Given the description of an element on the screen output the (x, y) to click on. 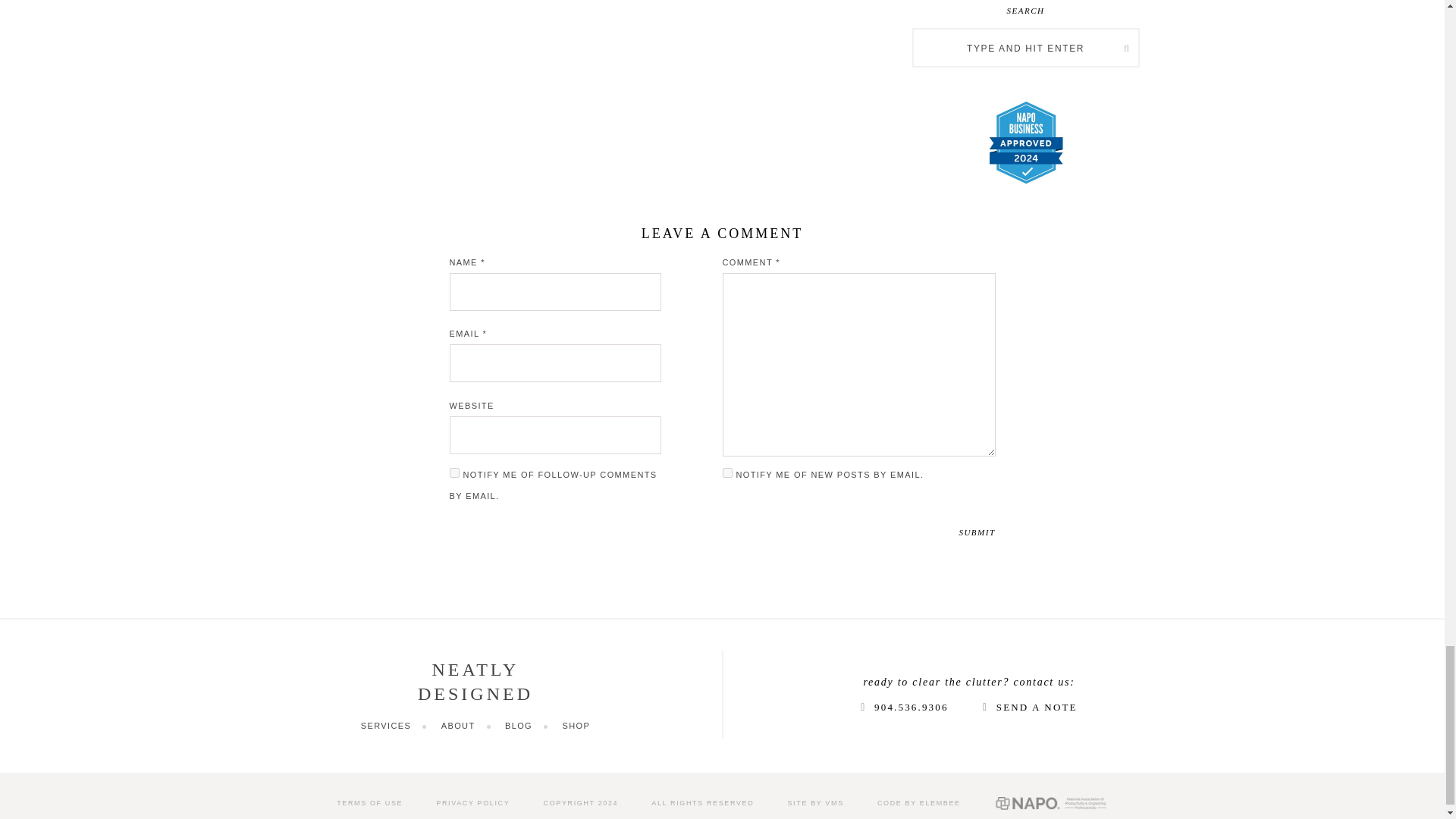
Type and hit enter (1025, 48)
subscribe (453, 472)
Submit (976, 532)
subscribe (727, 472)
Type and hit enter (1025, 48)
